Given the description of an element on the screen output the (x, y) to click on. 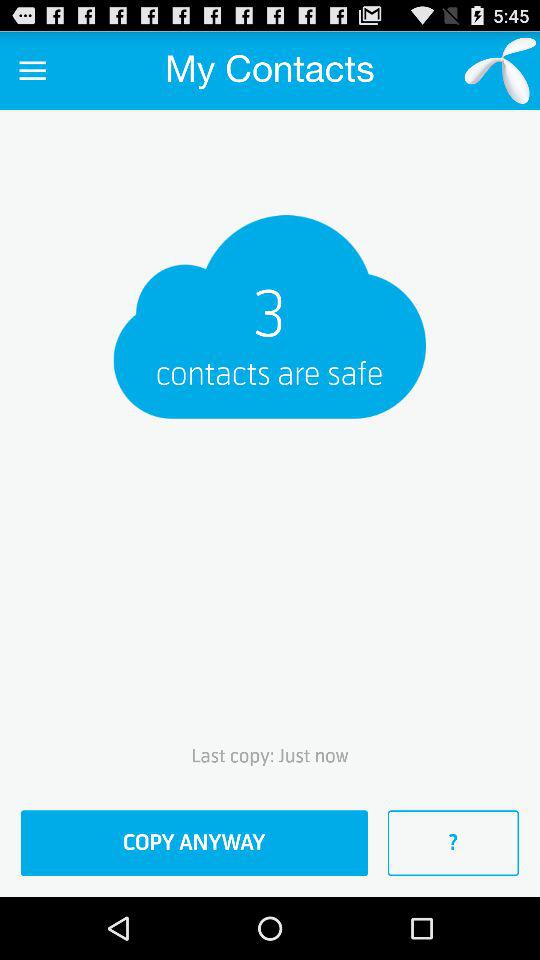
launch the item next to copy anyway (453, 843)
